Given the description of an element on the screen output the (x, y) to click on. 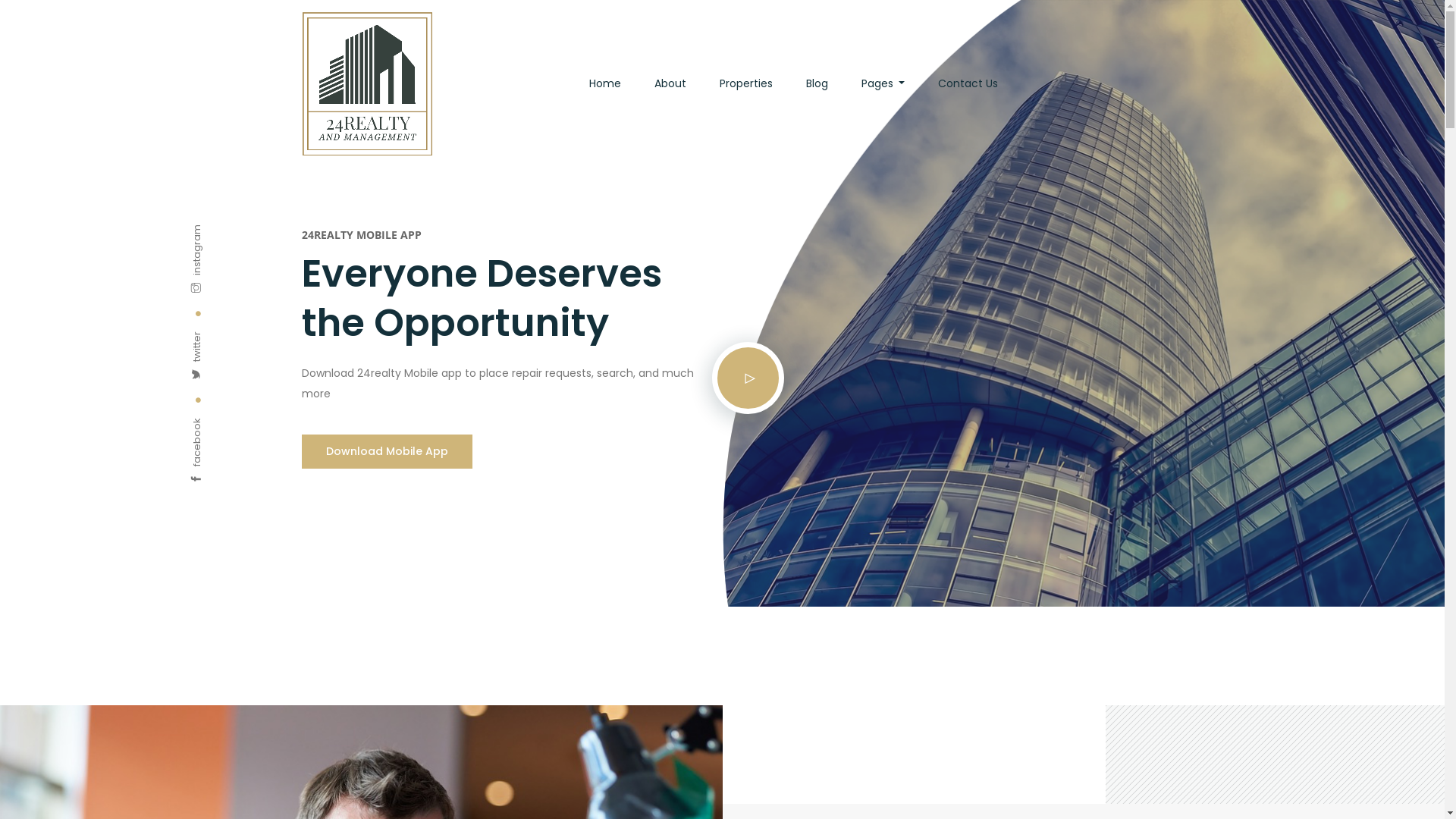
instagram Element type: text (222, 231)
About Element type: text (669, 83)
Home
(Current) Element type: text (604, 83)
twitter Element type: text (212, 338)
Properties Element type: text (745, 83)
Contact Us Element type: text (967, 83)
Download Mobile App Element type: text (386, 451)
Blog Element type: text (816, 83)
facebook Element type: text (221, 424)
Pages Element type: text (883, 83)
